Given the description of an element on the screen output the (x, y) to click on. 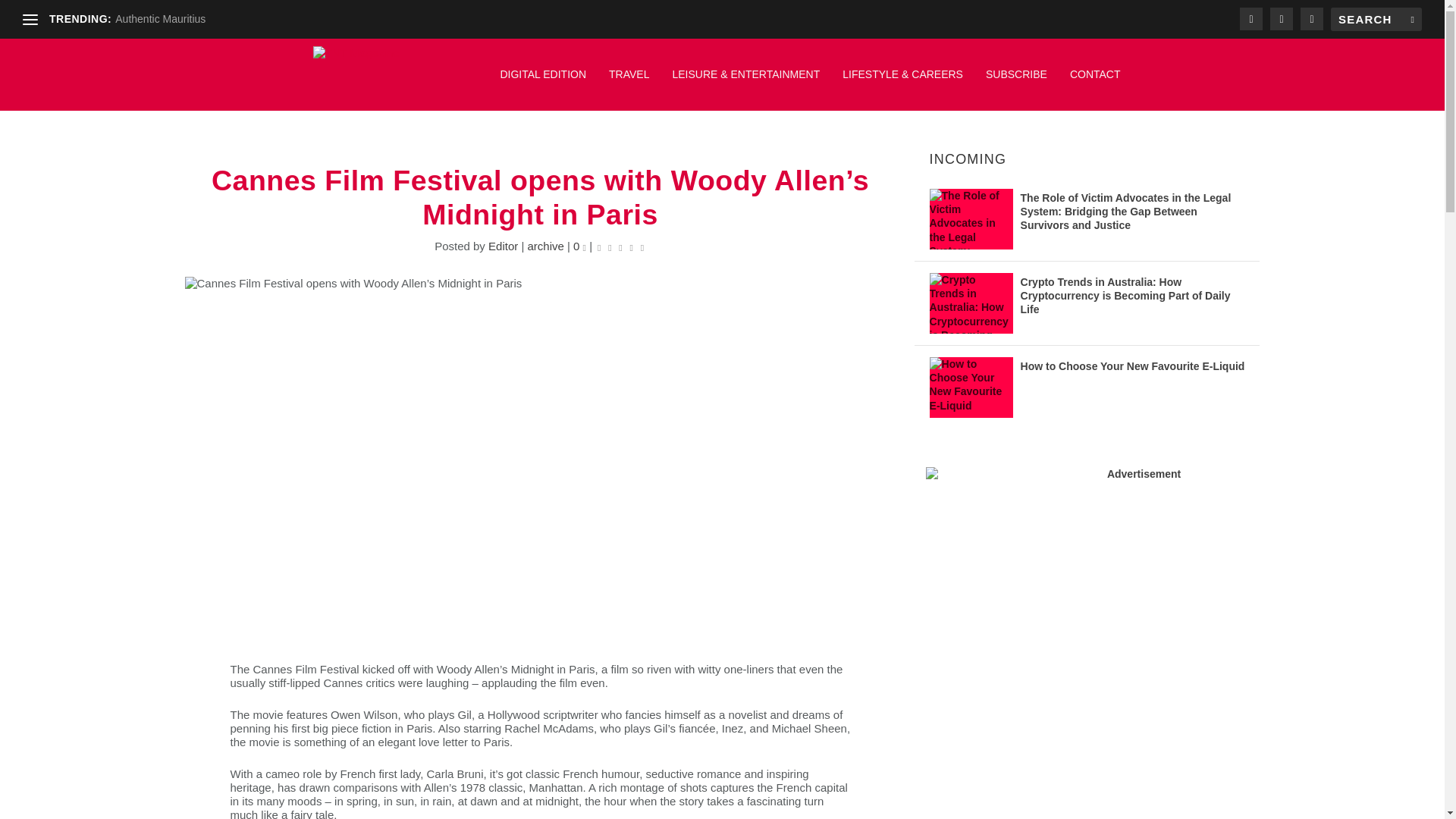
archive (545, 245)
Editor (502, 245)
Authentic Mauritius (160, 19)
0 (579, 245)
Rating: 0.00 (620, 246)
Search for: (1376, 19)
SUBSCRIBE (1015, 82)
DIGITAL EDITION (542, 82)
Posts by Editor (502, 245)
